Given the description of an element on the screen output the (x, y) to click on. 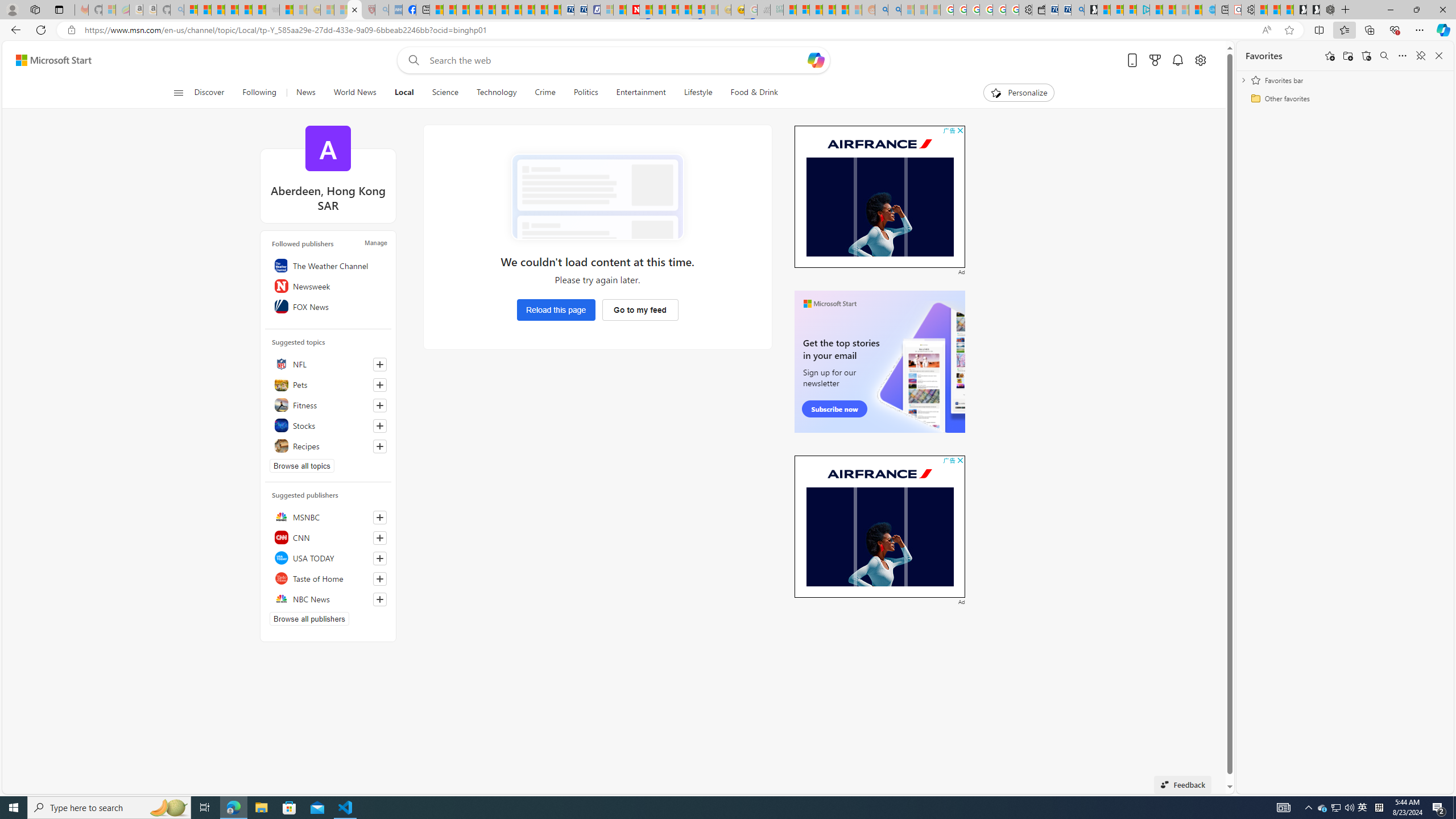
Cheap Hotels - Save70.com (580, 9)
Close favorites (1439, 55)
Taste of Home (327, 578)
New Report Confirms 2023 Was Record Hot | Watch (245, 9)
Follow this source (379, 599)
Add folder (1347, 55)
